Given the description of an element on the screen output the (x, y) to click on. 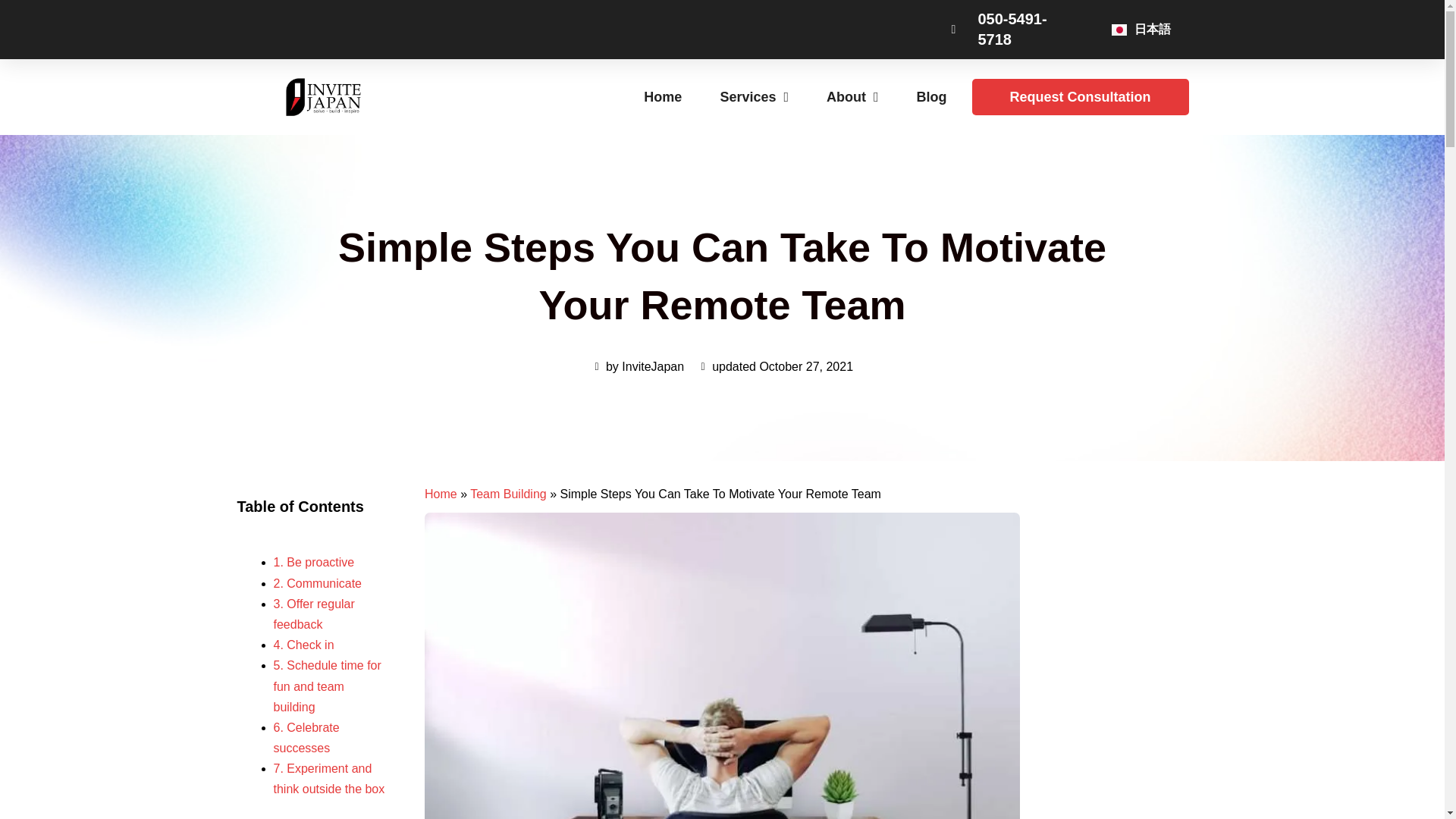
2. Communicate (317, 583)
Home (441, 493)
Team Building (508, 493)
1. Be proactive  (314, 562)
About (853, 96)
Home (662, 96)
050-5491-5718 (1015, 29)
Services (754, 96)
7. Experiment and think outside the box (328, 778)
Request Consultation (1080, 96)
